Given the description of an element on the screen output the (x, y) to click on. 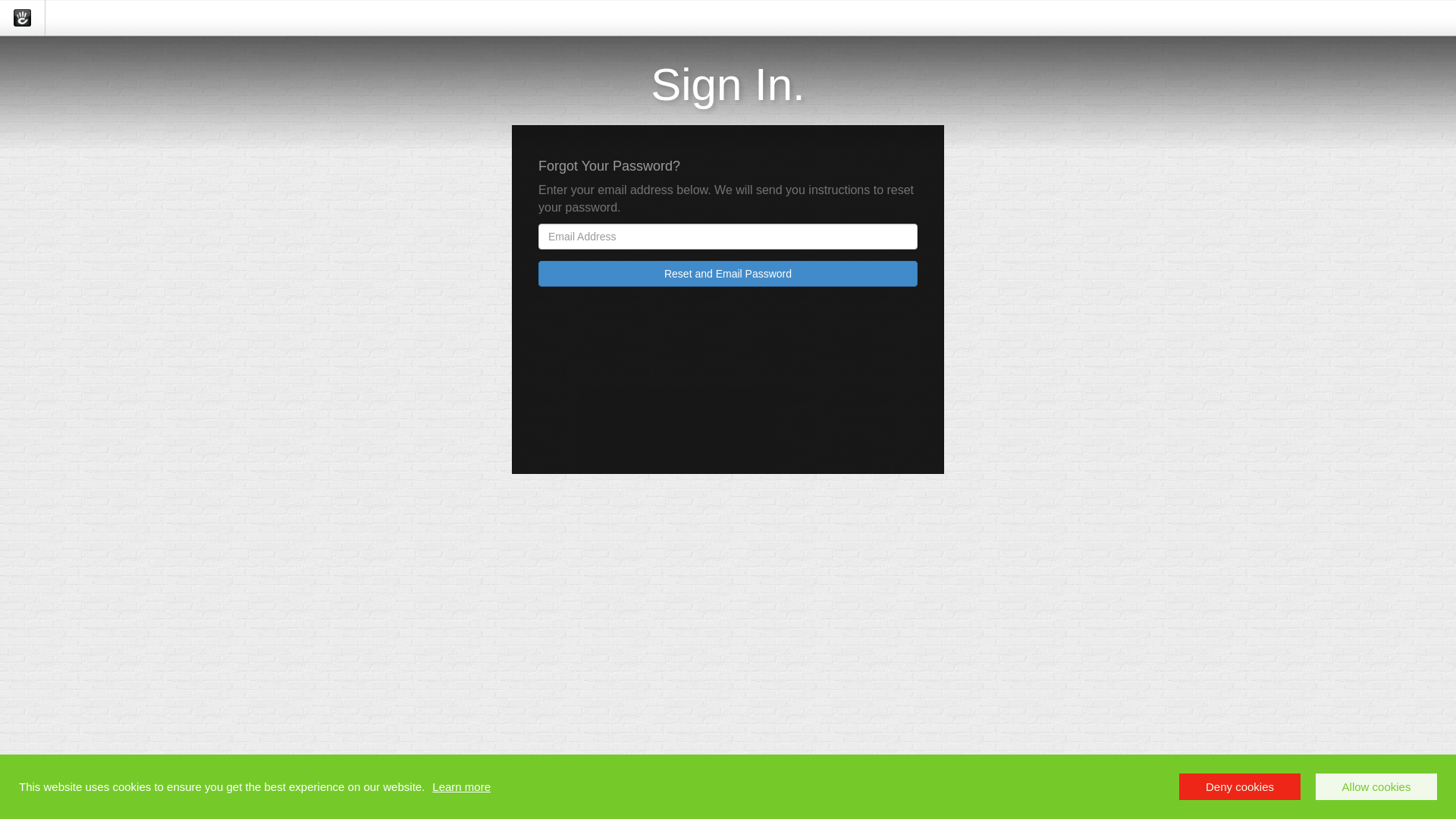
Deny cookies Element type: text (1239, 786)
concrete5 Element type: hover (22, 17)
Allow cookies Element type: text (1376, 786)
Learn more Element type: text (461, 786)
Reset and Email Password Element type: text (727, 273)
